Given the description of an element on the screen output the (x, y) to click on. 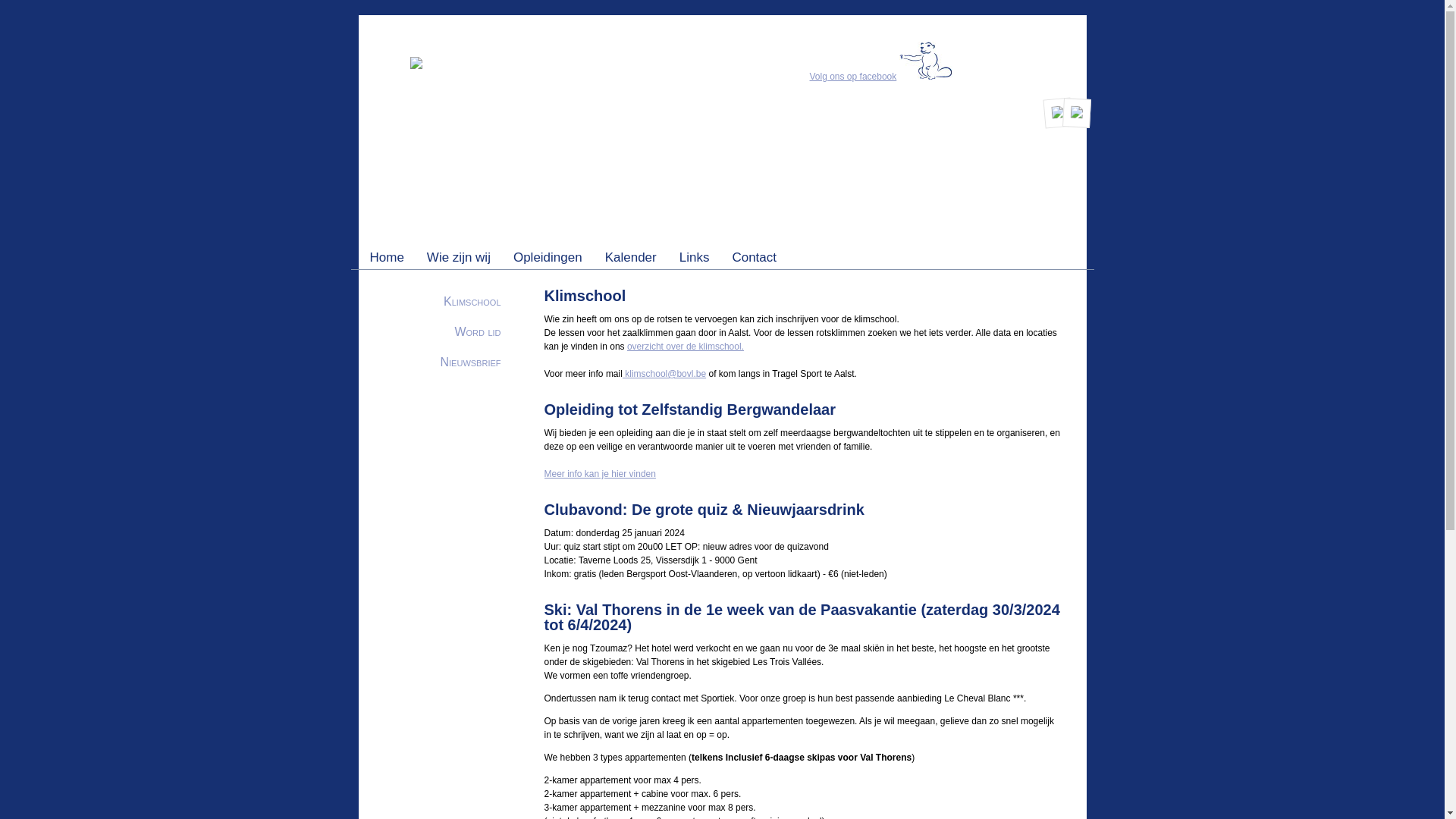
Nieuwsbrief Element type: text (469, 361)
Links Element type: text (694, 257)
Volg ons op facebook Element type: text (853, 76)
Opleidingen Element type: text (547, 257)
Word lid Element type: text (477, 331)
Terug de homepage Element type: hover (389, 65)
Klimschool Element type: text (471, 300)
Kalender Element type: text (630, 257)
Meer info kan je hier vinden Element type: text (599, 473)
overzicht over de klimschool. Element type: text (685, 346)
Home Element type: text (387, 257)
klimschool@bovl.be Element type: text (664, 373)
Contact Element type: text (753, 257)
Wie zijn wij Element type: text (458, 257)
